Given the description of an element on the screen output the (x, y) to click on. 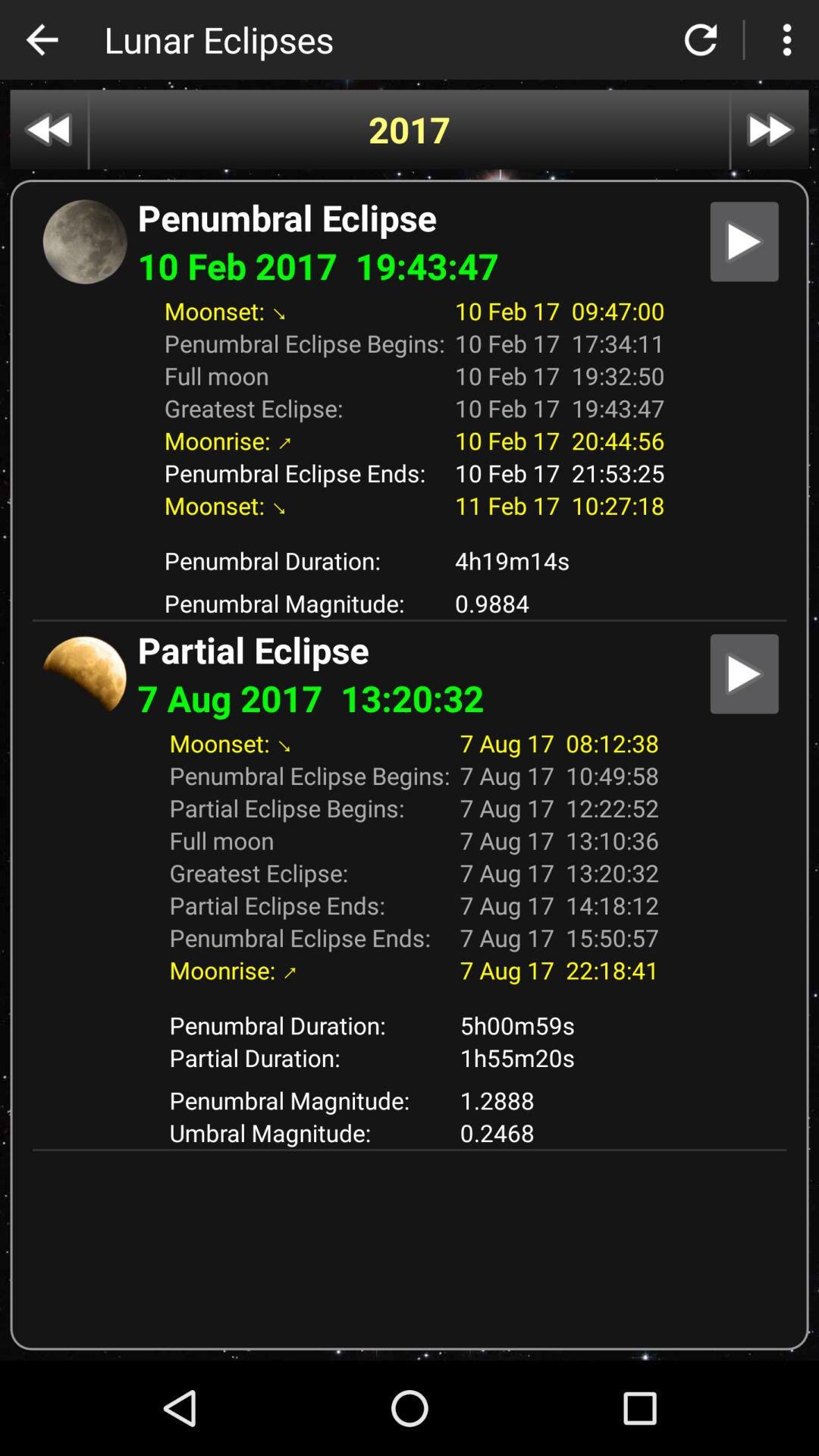
turn on the app below penumbral duration: icon (559, 1057)
